Given the description of an element on the screen output the (x, y) to click on. 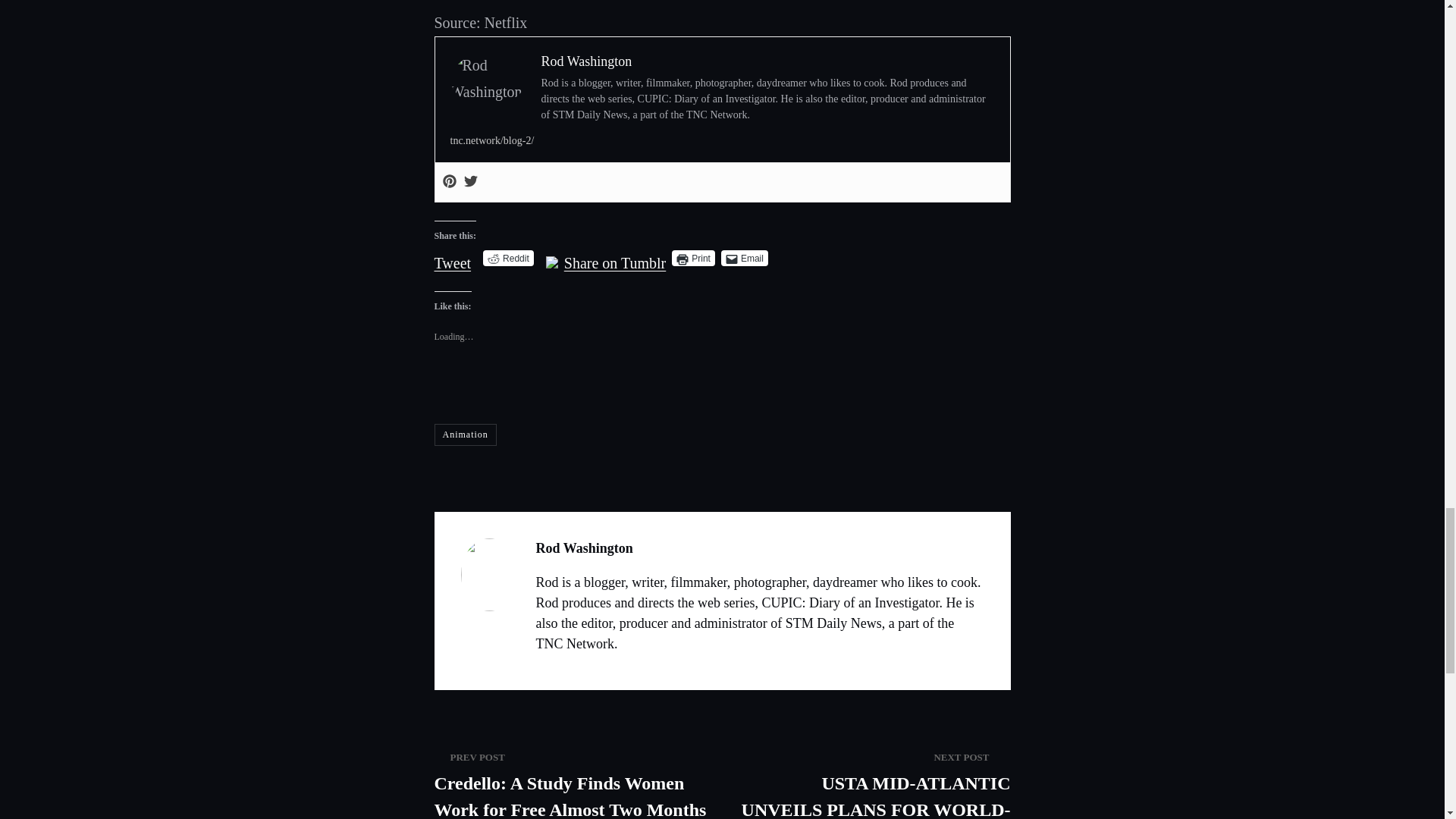
Click to email a link to a friend (744, 258)
Animation (464, 434)
Rod Washington (586, 61)
Share on Tumblr (614, 256)
Print (692, 258)
Click to share on Reddit (508, 258)
Reddit (508, 258)
Tweet (451, 256)
Share on Tumblr (614, 256)
